Given the description of an element on the screen output the (x, y) to click on. 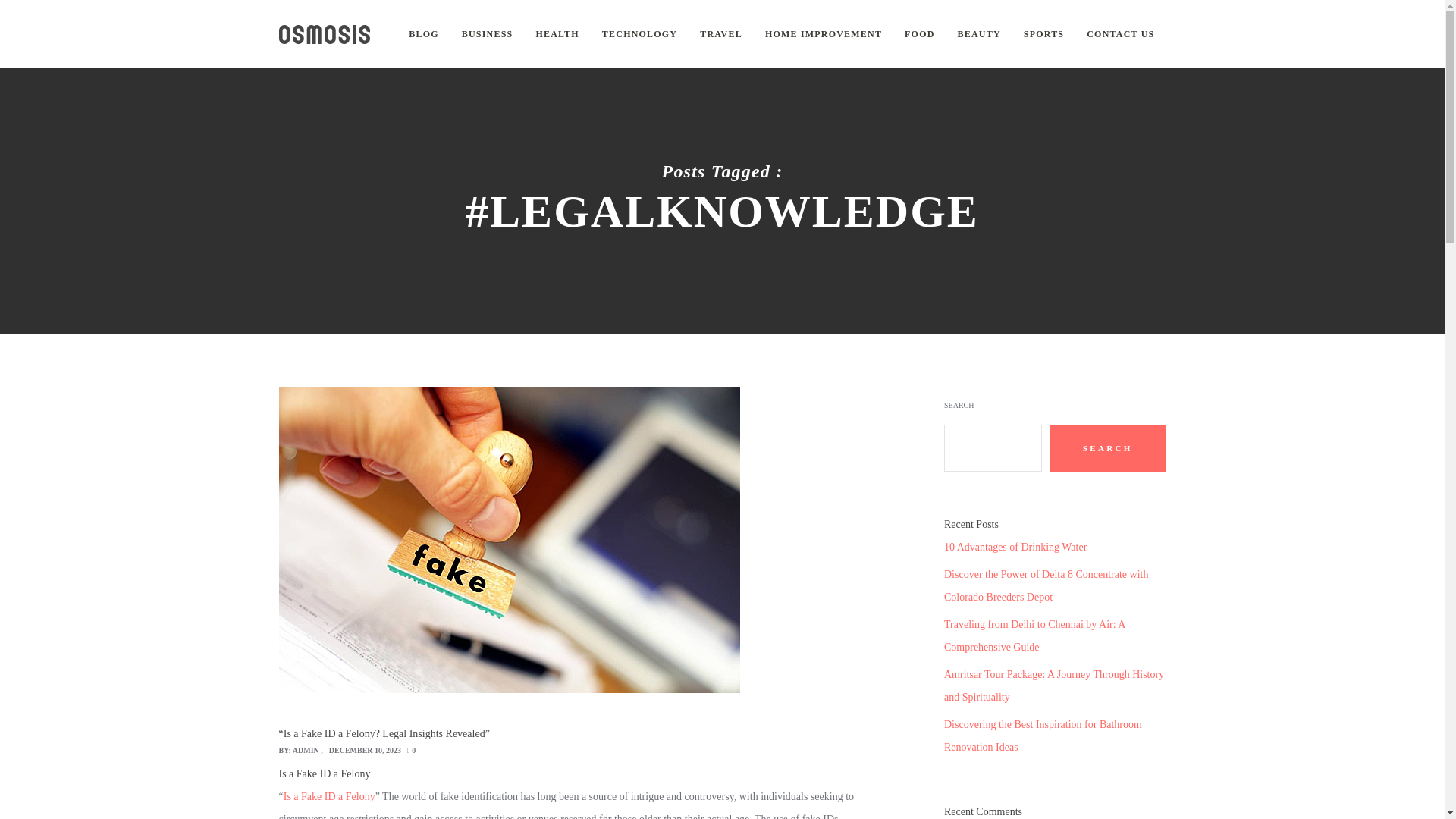
ADMIN (305, 750)
Show Fakes (324, 34)
TECHNOLOGY (639, 33)
BEAUTY (979, 33)
BLOG (423, 33)
FOOD (919, 33)
HOME IMPROVEMENT (823, 33)
Is a Fake ID a Felony (329, 796)
BUSINESS (487, 33)
10 Advantages of Drinking Water (1014, 546)
SEARCH (1107, 448)
TRAVEL (721, 33)
